Given the description of an element on the screen output the (x, y) to click on. 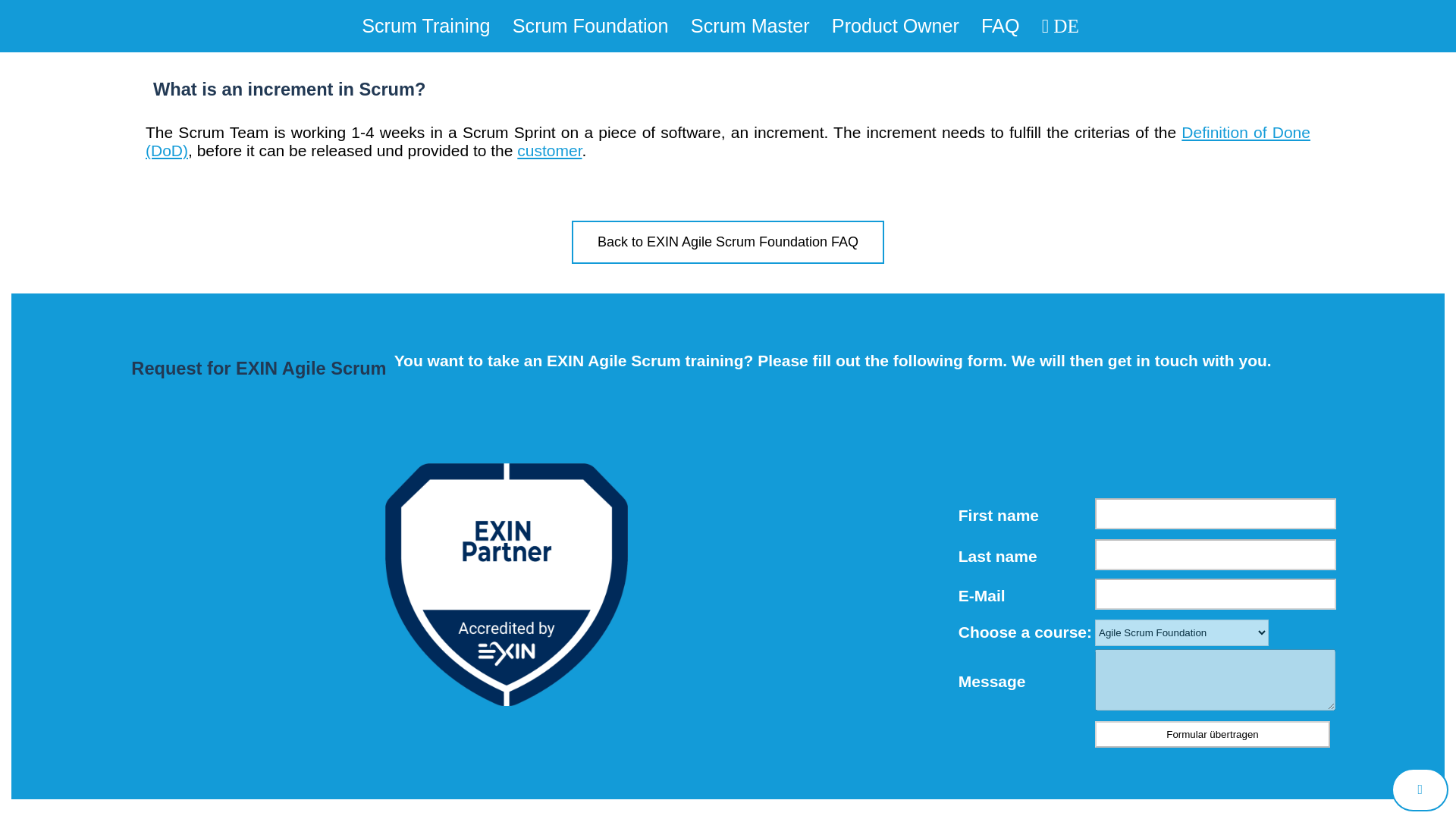
FAQ (1000, 25)
DE (1060, 26)
Scrum Foundation (590, 25)
Scrum Training (425, 25)
Back to EXIN Agile Scrum Foundation FAQ (727, 241)
Scrum Master (749, 25)
Back to EXIN Agile Scrum Foundation FAQ (727, 244)
customer (548, 149)
Product Owner (895, 25)
